Given the description of an element on the screen output the (x, y) to click on. 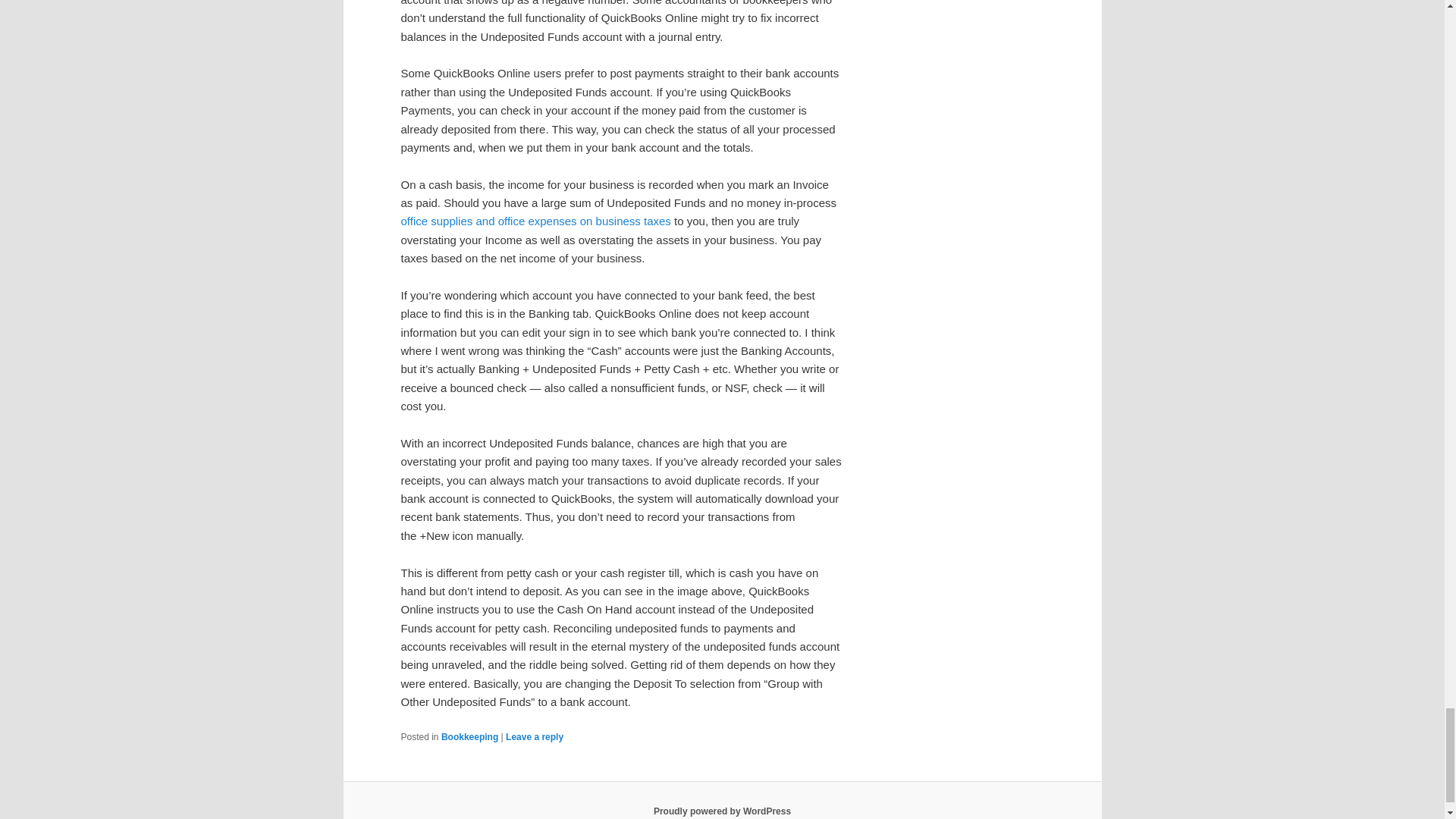
View all posts in Bookkeeping (469, 737)
Leave a reply (534, 737)
Bookkeeping (469, 737)
office supplies and office expenses on business taxes (534, 220)
